Given the description of an element on the screen output the (x, y) to click on. 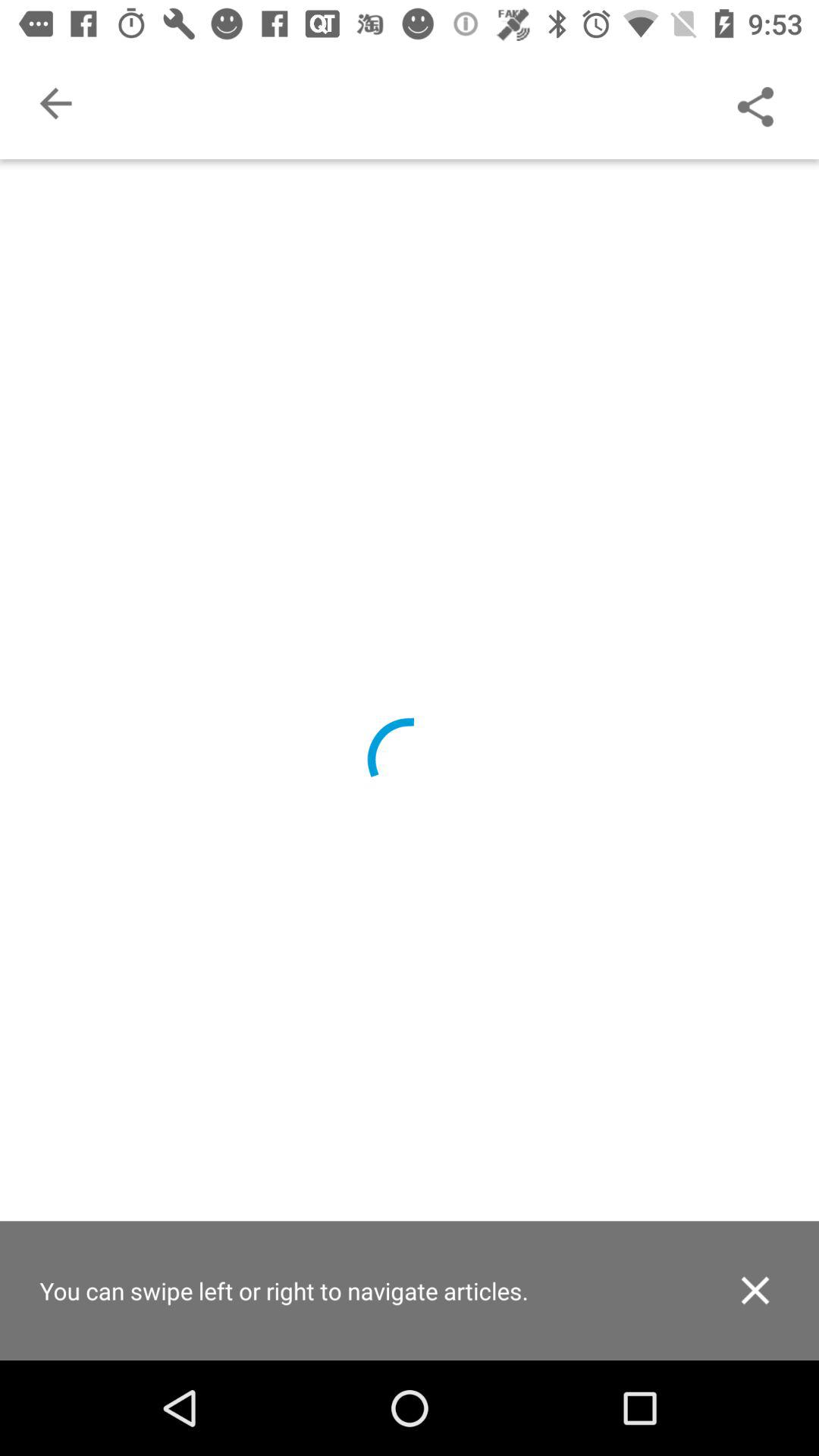
press the item at the top right corner (755, 103)
